Given the description of an element on the screen output the (x, y) to click on. 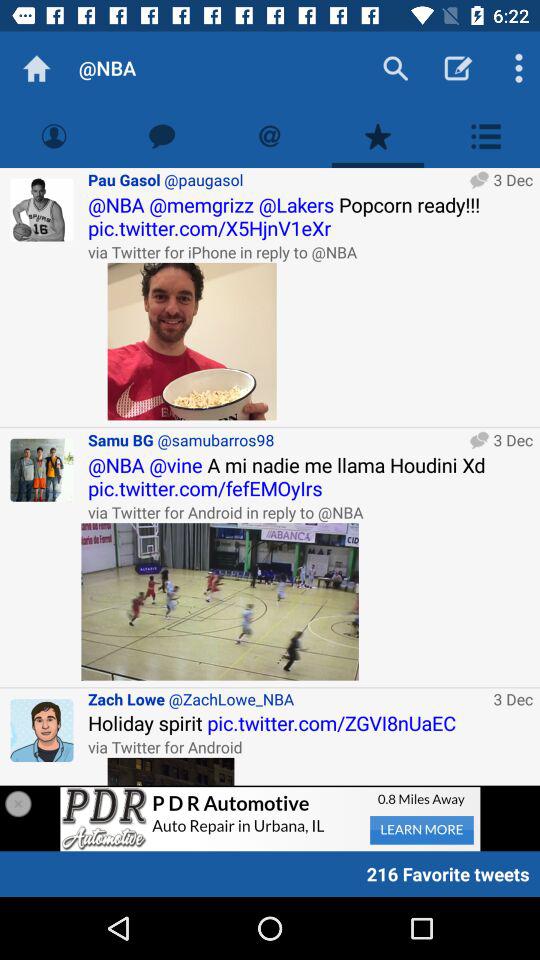
open photo (219, 601)
